Given the description of an element on the screen output the (x, y) to click on. 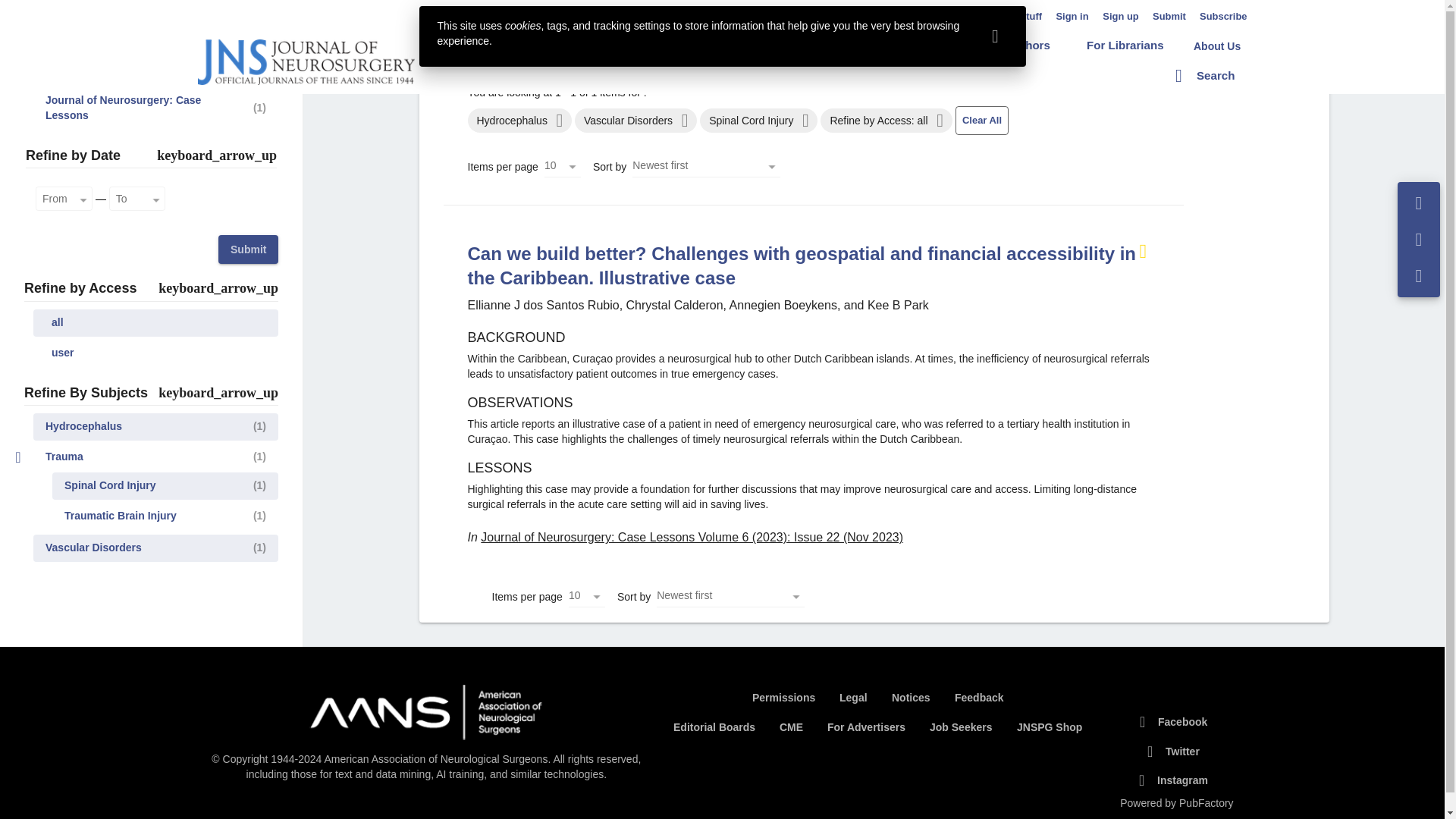
Journals (679, 45)
Dismiss this warning (994, 36)
My Stuff (1022, 16)
Sign in (1072, 16)
Subscribe (1223, 16)
Sign up (1120, 16)
Home (521, 45)
COVID-19 (600, 45)
Submit (1168, 16)
My Stuff (1022, 16)
